Given the description of an element on the screen output the (x, y) to click on. 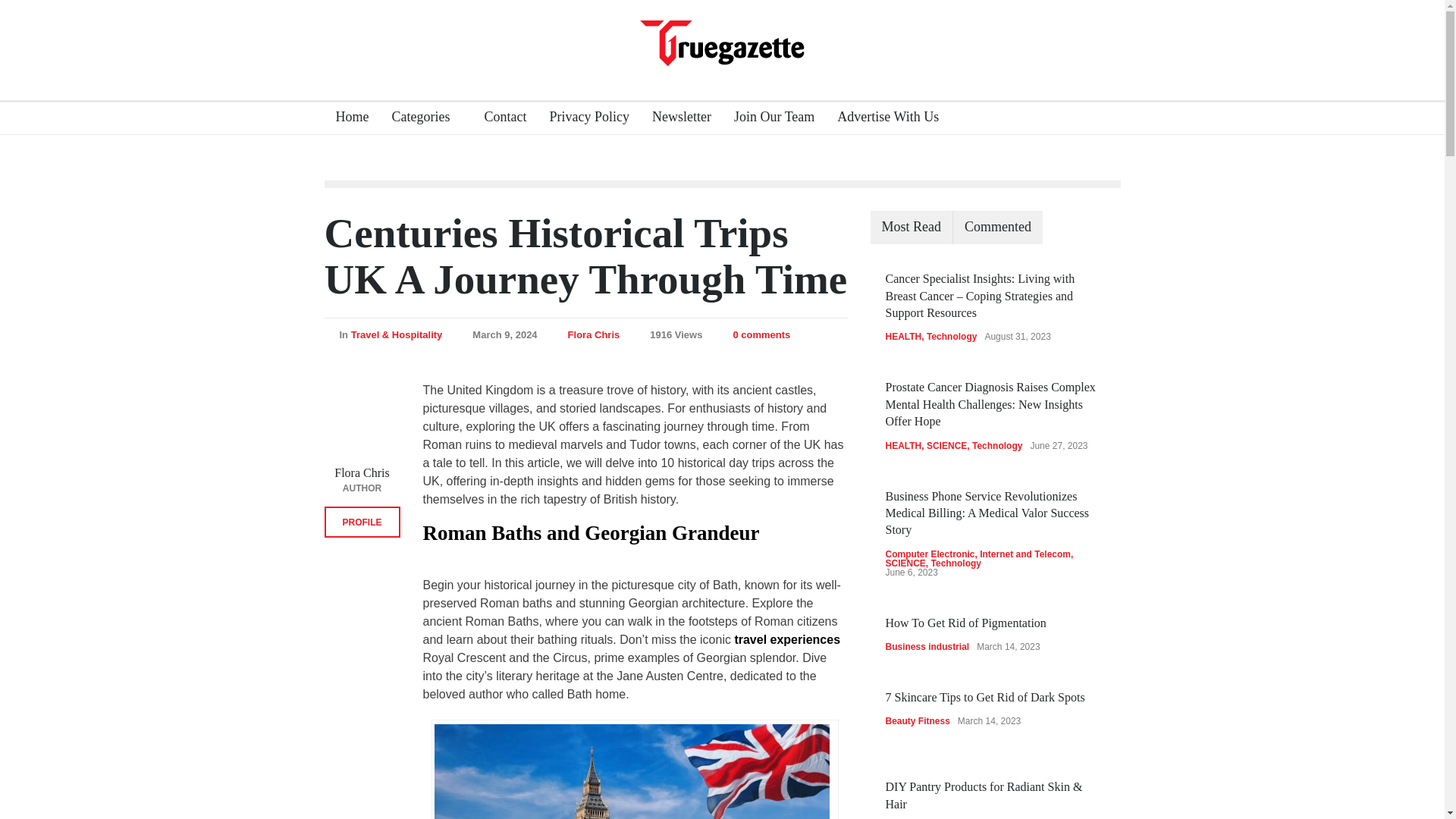
Home (346, 118)
Privacy Policy (582, 118)
Newsletter (675, 118)
Flora Chris (361, 472)
Contact (498, 118)
Flora Chris (362, 419)
Join Our Team (767, 118)
Flora Chris (593, 334)
Centuries Historical Trips UK A Journey Through Time (585, 255)
0 comments (761, 334)
Truegazette (722, 40)
Flora Chris (593, 334)
Advertise With Us (882, 118)
0 comments (761, 334)
travel experiences (785, 639)
